Given the description of an element on the screen output the (x, y) to click on. 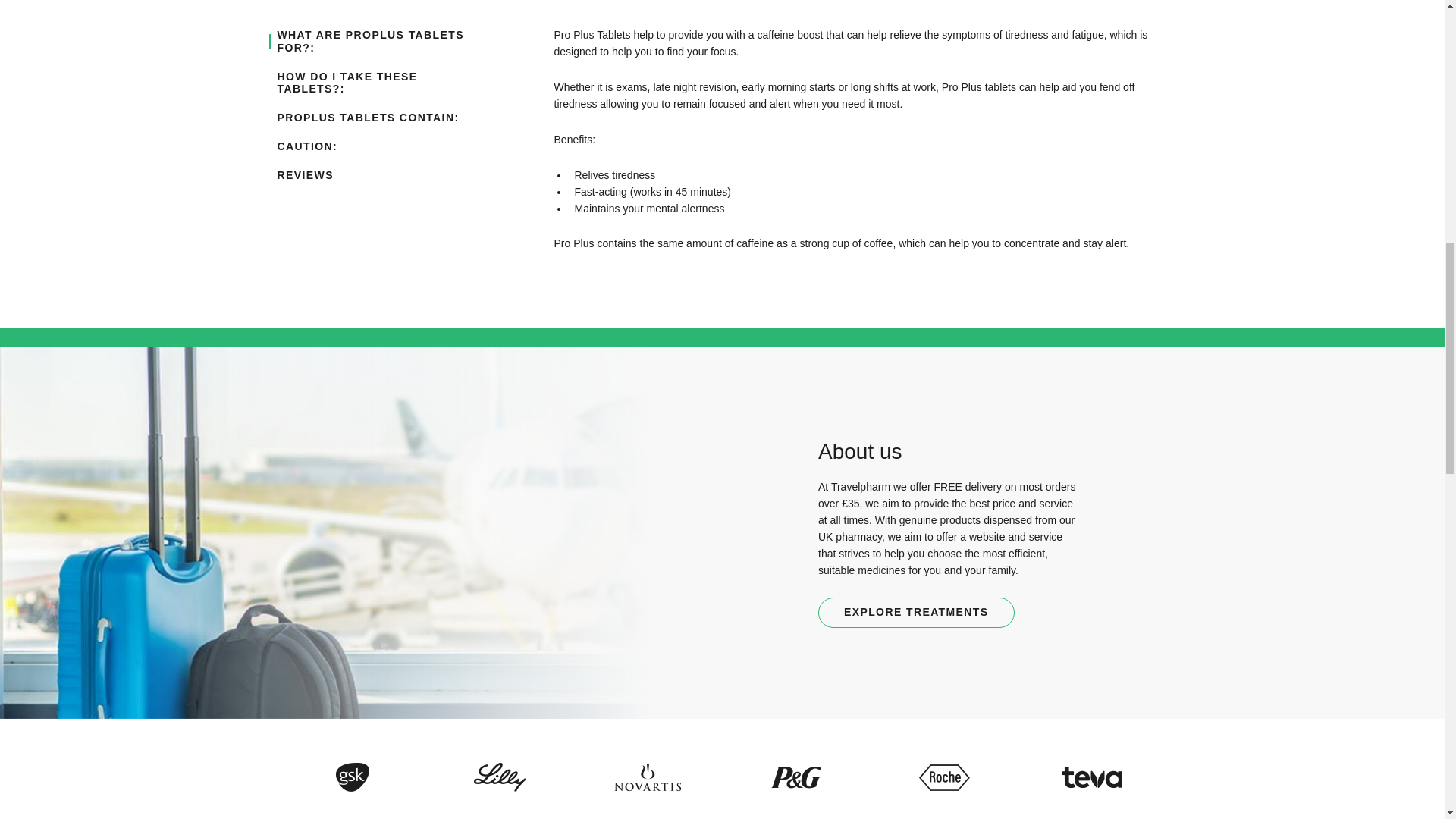
Customer reviews powered by Trustpilot (620, 556)
